Given the description of an element on the screen output the (x, y) to click on. 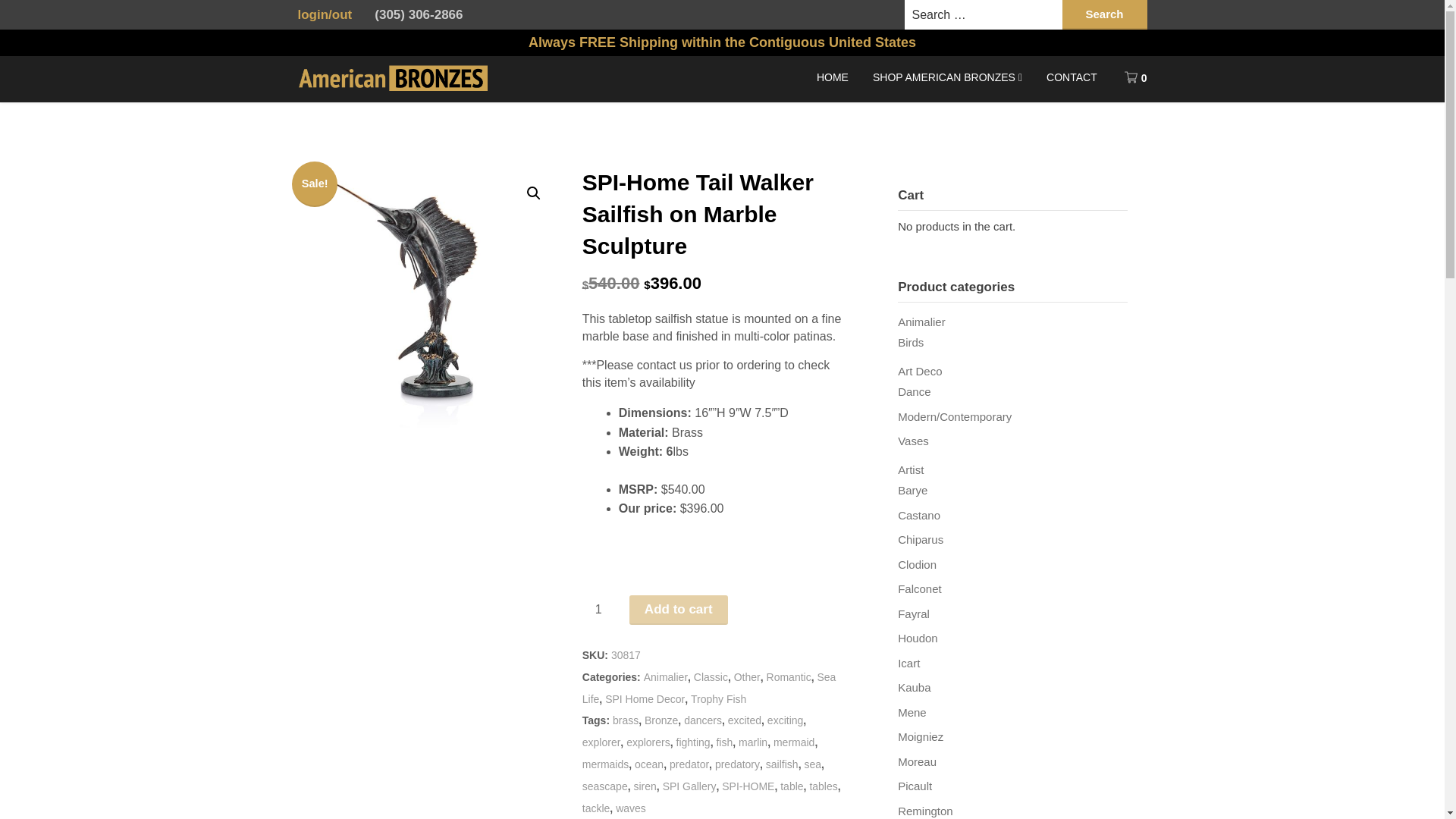
Trophy Fish (717, 698)
Other (746, 676)
HOME (832, 76)
Search (1104, 14)
explorers (647, 742)
ocean (648, 764)
excited (744, 720)
mermaid (793, 742)
fighting (693, 742)
sailfish (781, 764)
marlin (752, 742)
sea (812, 764)
SPI Home Decor (644, 698)
Classic (711, 676)
exciting (785, 720)
